Given the description of an element on the screen output the (x, y) to click on. 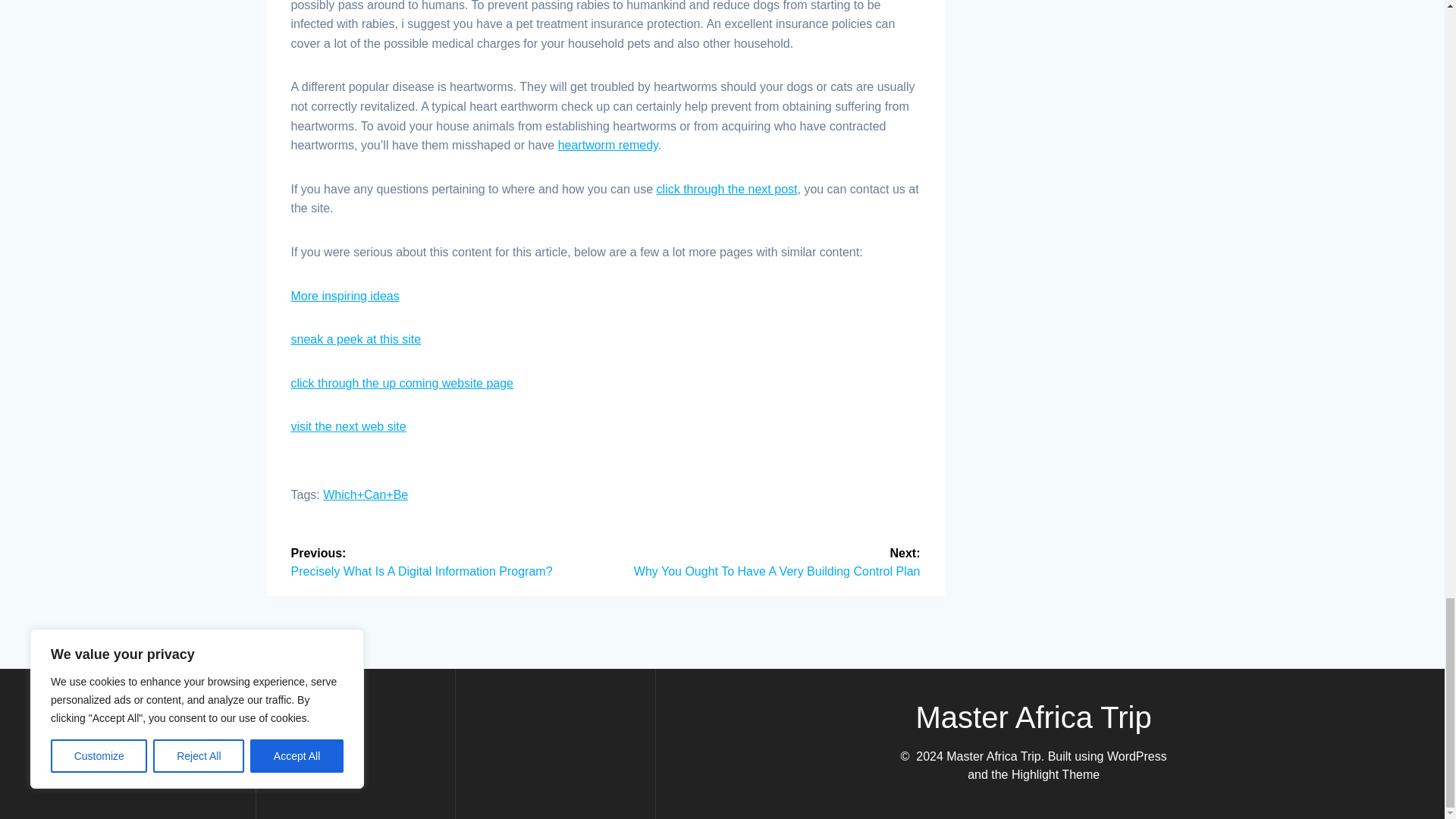
click through the up coming website page (402, 382)
visit the next web site (348, 426)
More inspiring ideas (344, 295)
sneak a peek at this site (356, 338)
click through the next post (726, 188)
heartworm remedy (607, 144)
